Given the description of an element on the screen output the (x, y) to click on. 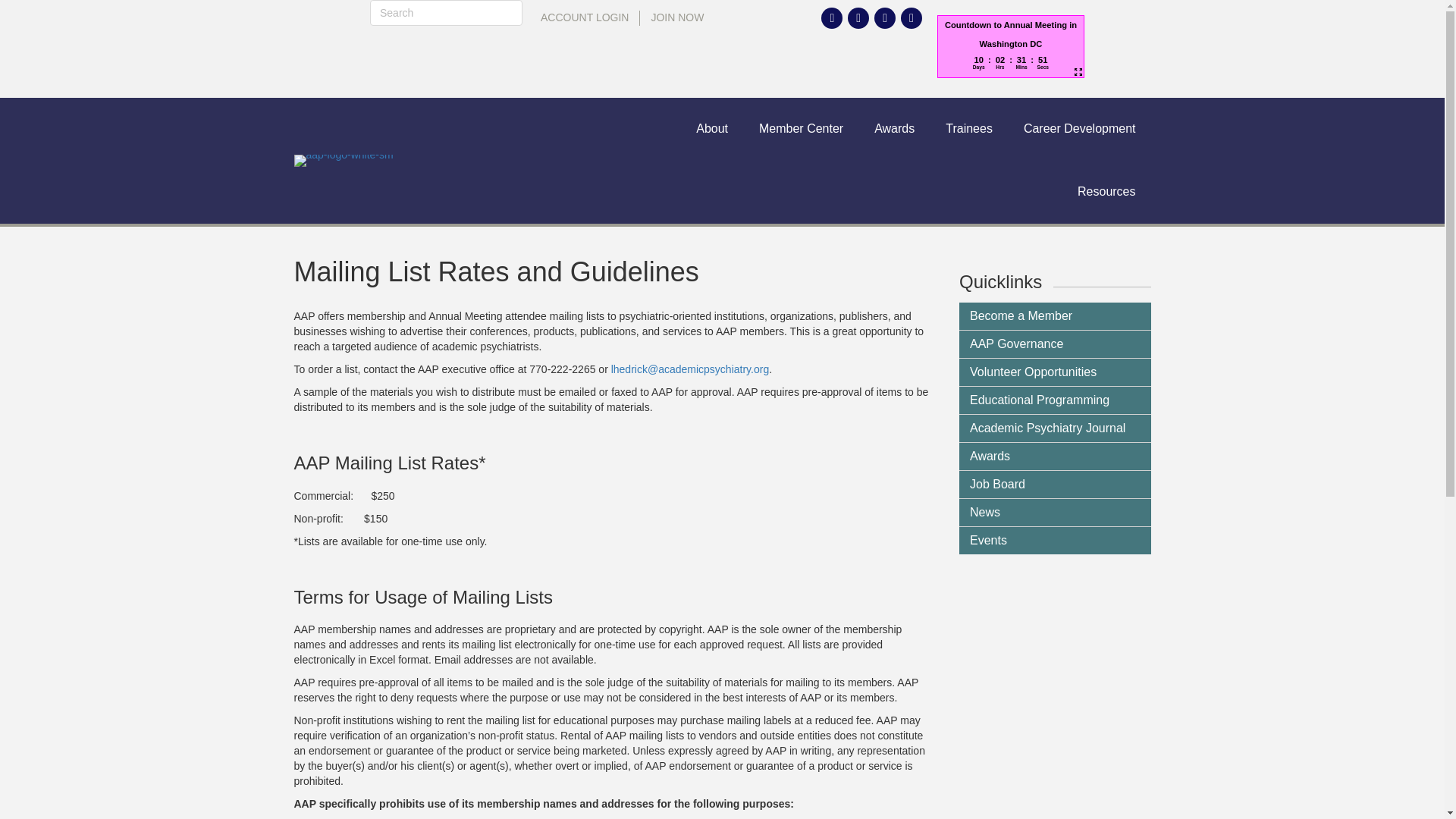
Career Development (1080, 128)
News (1055, 512)
Volunteer Opportunities (1055, 371)
Resources (1106, 191)
Awards (894, 128)
About (711, 128)
JOIN NOW (677, 17)
Academic Psychiatry Journal (1055, 428)
Member Center (801, 128)
AAP Governance (1055, 343)
